Given the description of an element on the screen output the (x, y) to click on. 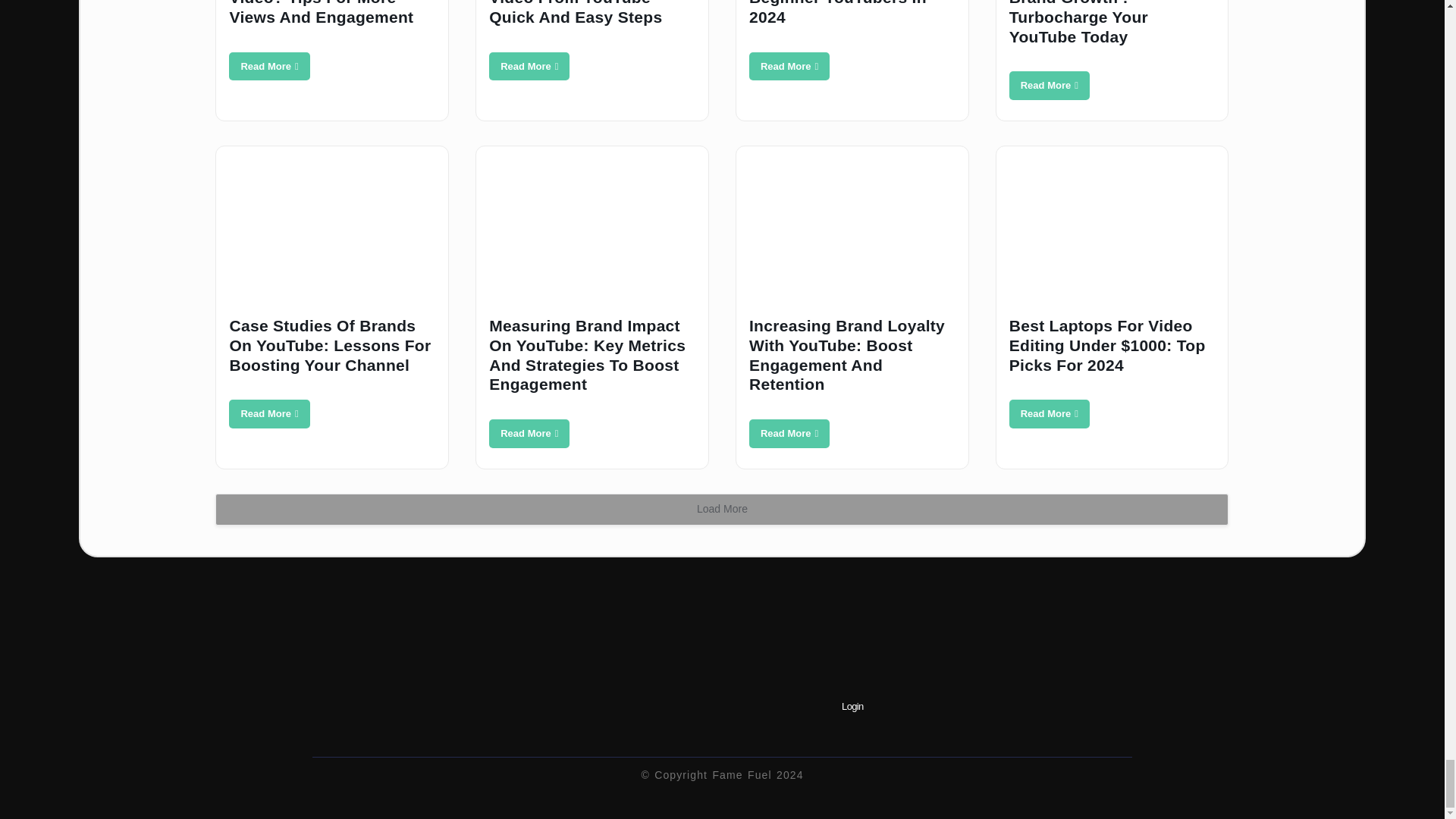
Essential Tips for Beginner YouTubers in 2024 (789, 66)
How Do You Delete a Video from YouTube Quick and Easy Steps (529, 66)
